Given the description of an element on the screen output the (x, y) to click on. 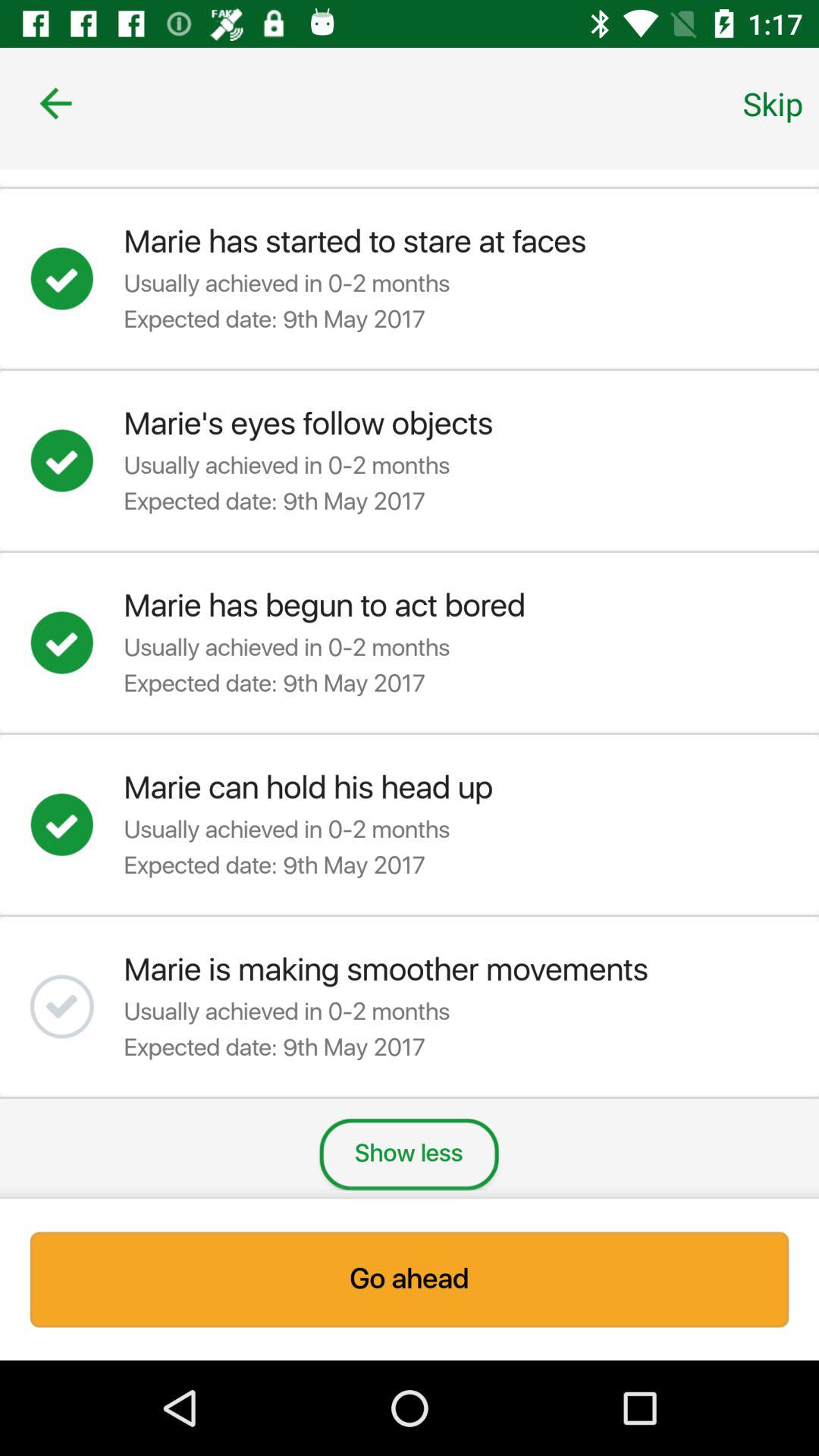
open skip (772, 103)
